Given the description of an element on the screen output the (x, y) to click on. 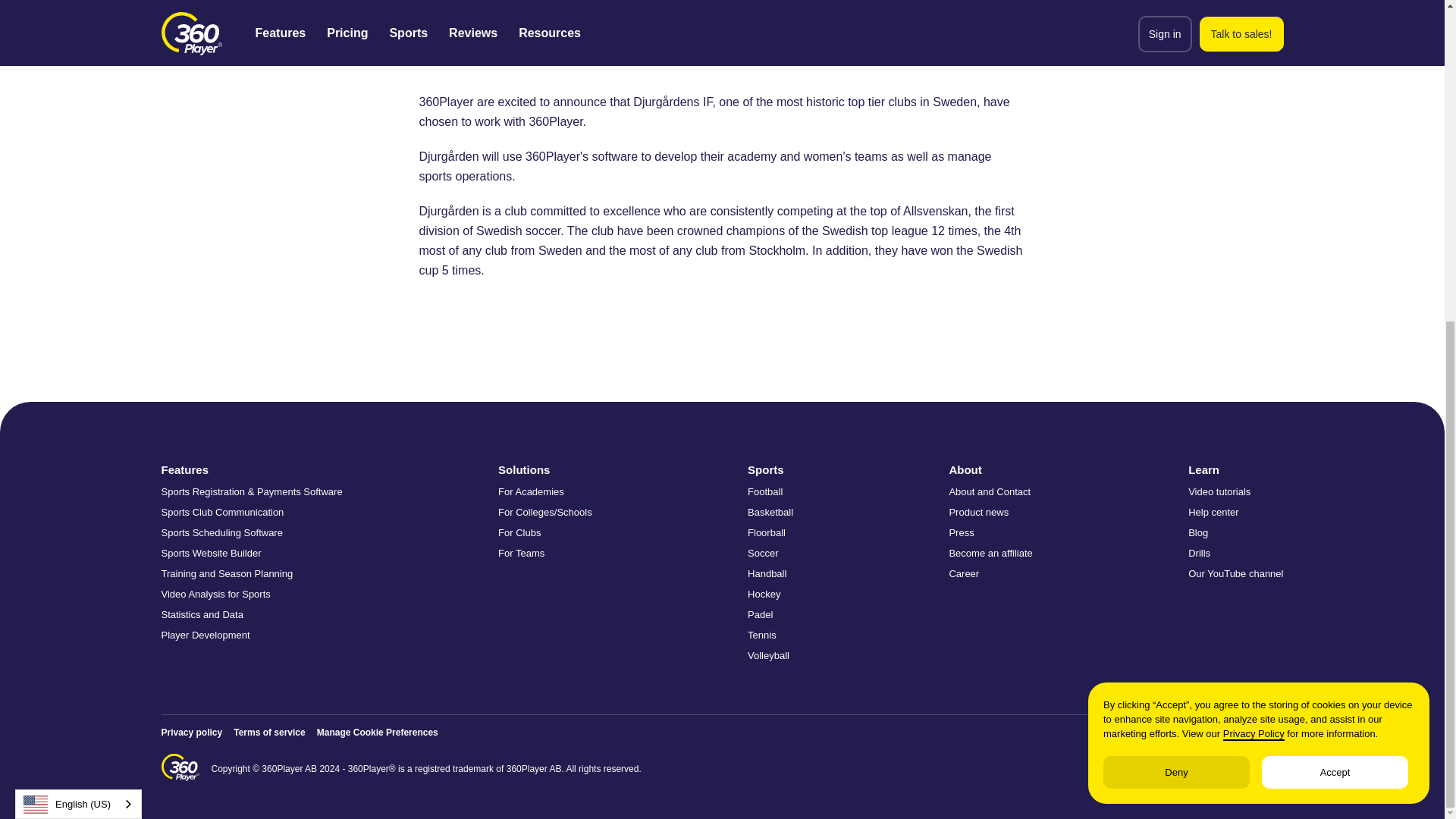
Accept (1334, 249)
Sports Club Communication (251, 512)
Deny (1176, 249)
Privacy Policy (1253, 211)
